Given the description of an element on the screen output the (x, y) to click on. 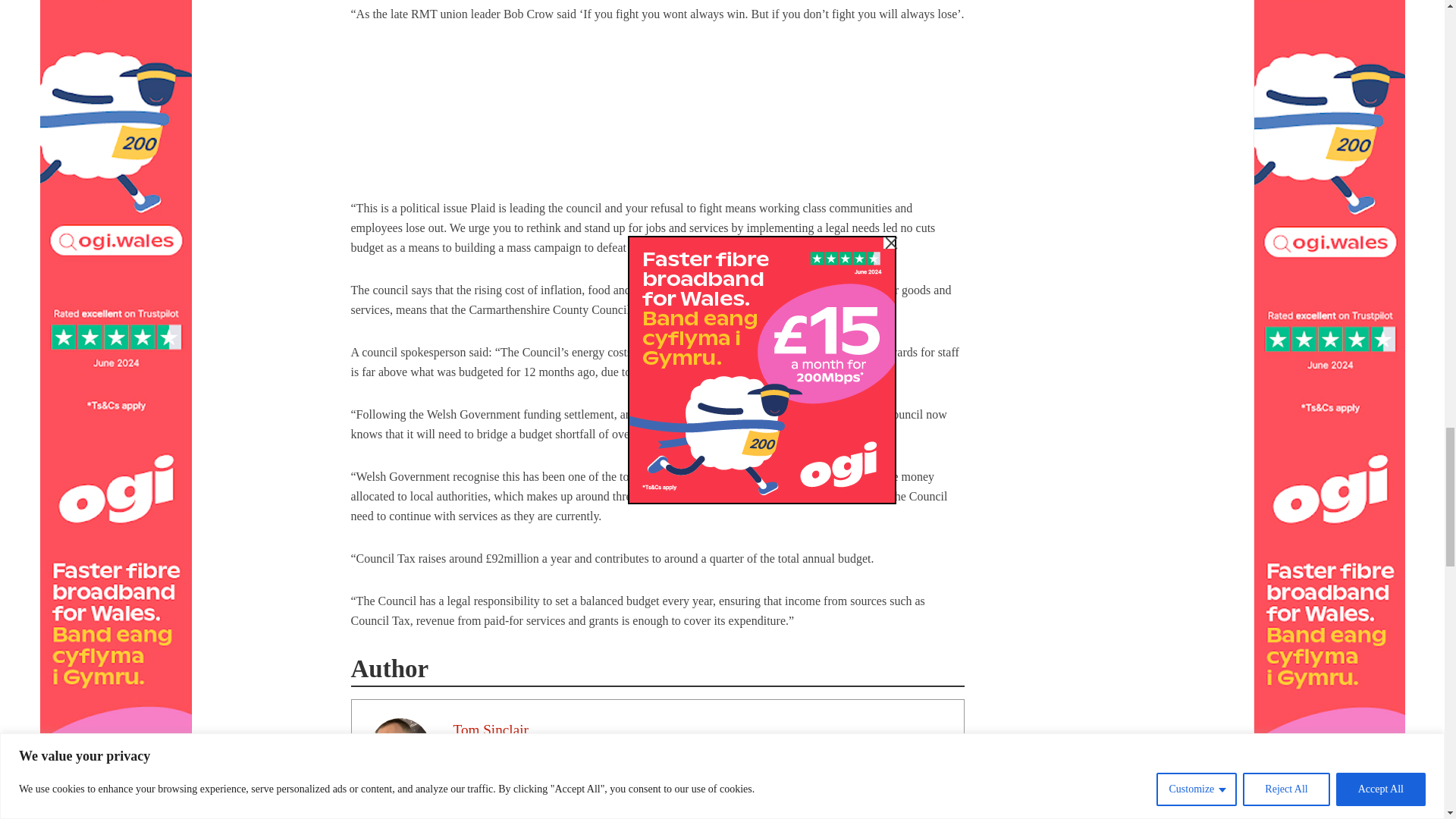
Tom Sinclair (490, 729)
View all posts (497, 767)
